Given the description of an element on the screen output the (x, y) to click on. 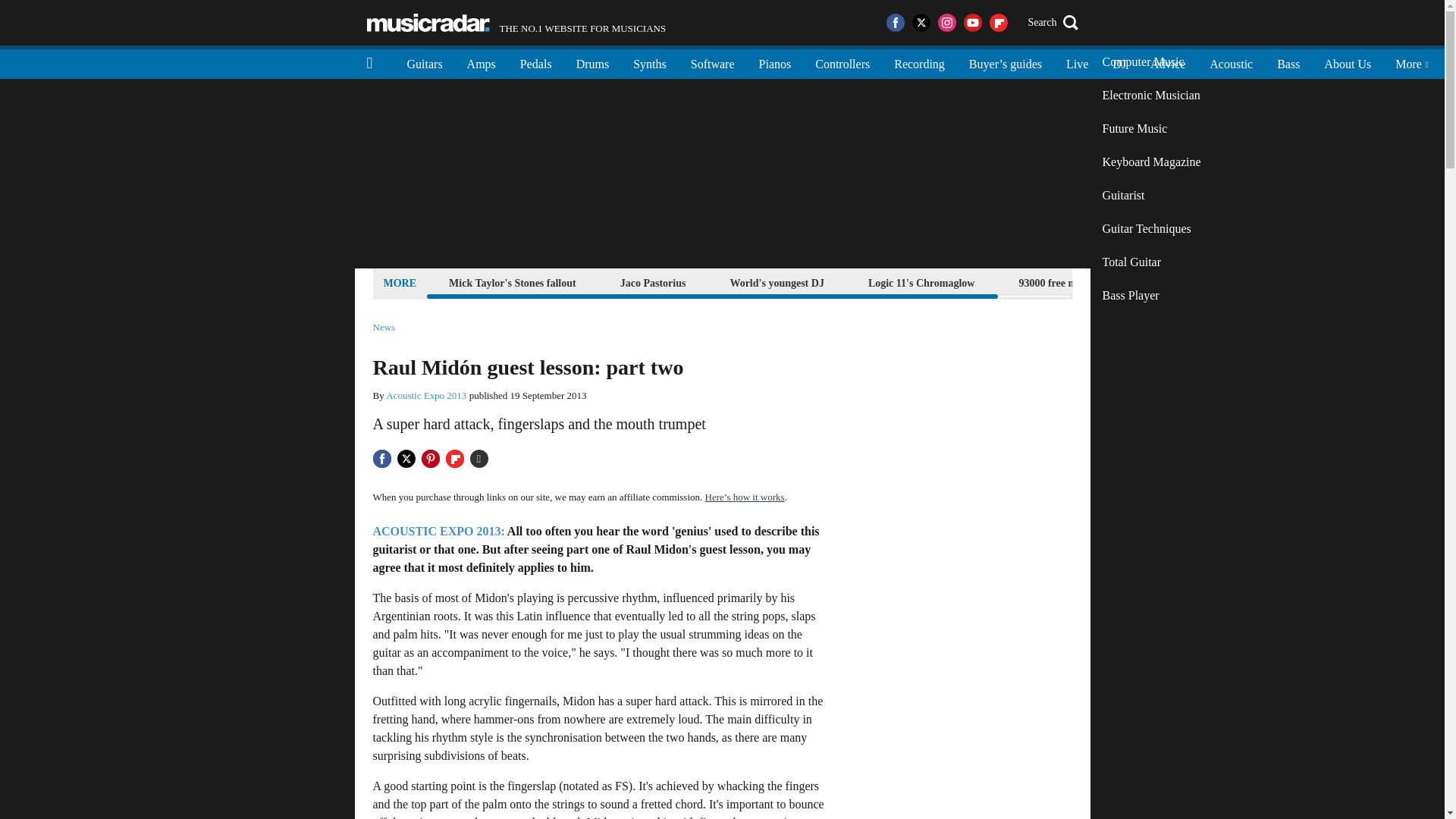
Amps (481, 61)
Keyboard Magazine (1151, 162)
Mick Taylor's Stones fallout (512, 282)
Music Radar (427, 22)
Advice (1167, 61)
DJ (1119, 61)
Software (712, 61)
Synths (649, 61)
Future Music (1151, 128)
Jaco Pastorius (652, 282)
Acoustic (1230, 61)
Guitar Techniques (1151, 228)
Drums (592, 61)
Electronic Musician (1151, 95)
Bass (1288, 61)
